Given the description of an element on the screen output the (x, y) to click on. 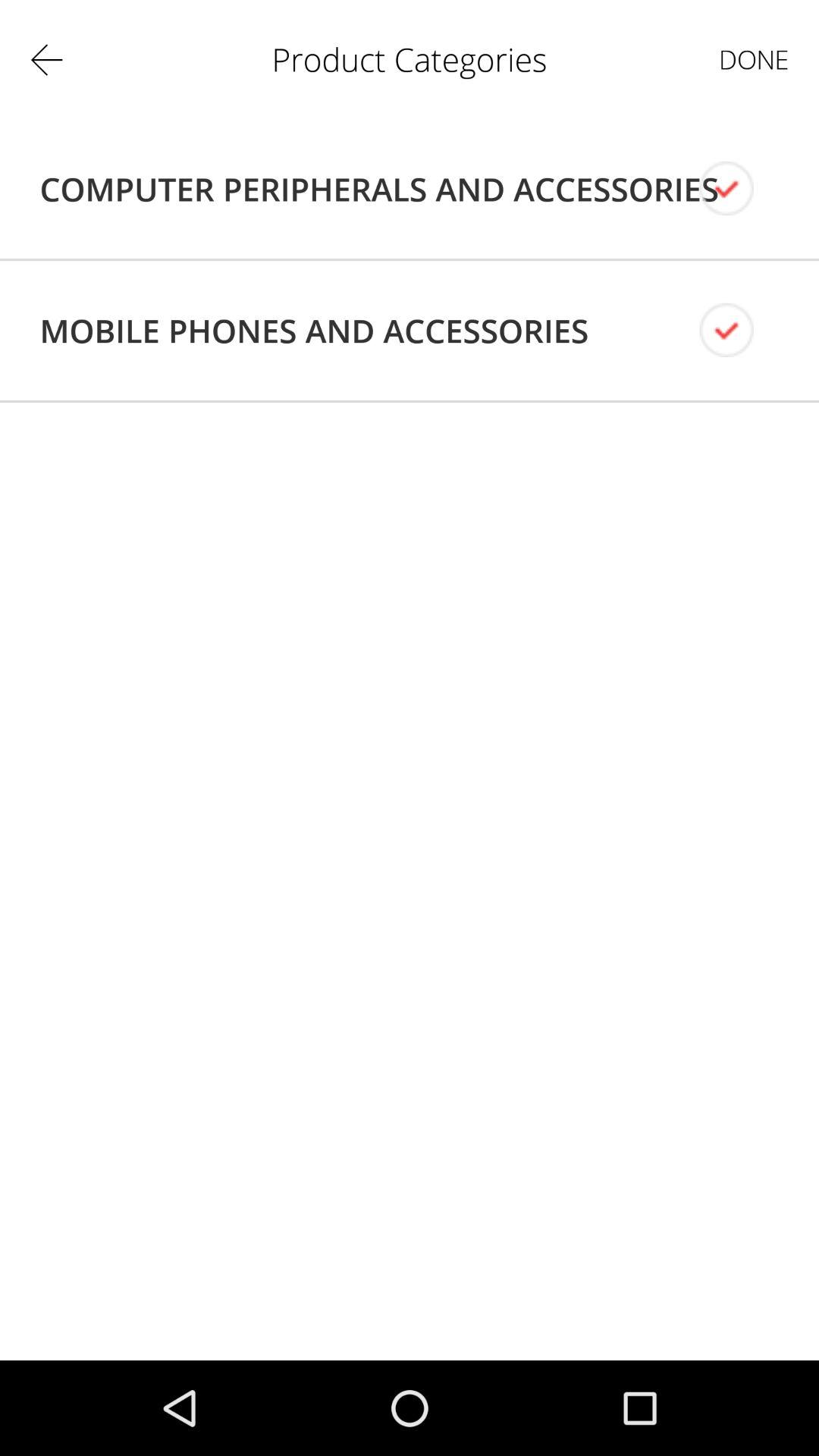
open the icon below computer peripherals and icon (313, 330)
